Given the description of an element on the screen output the (x, y) to click on. 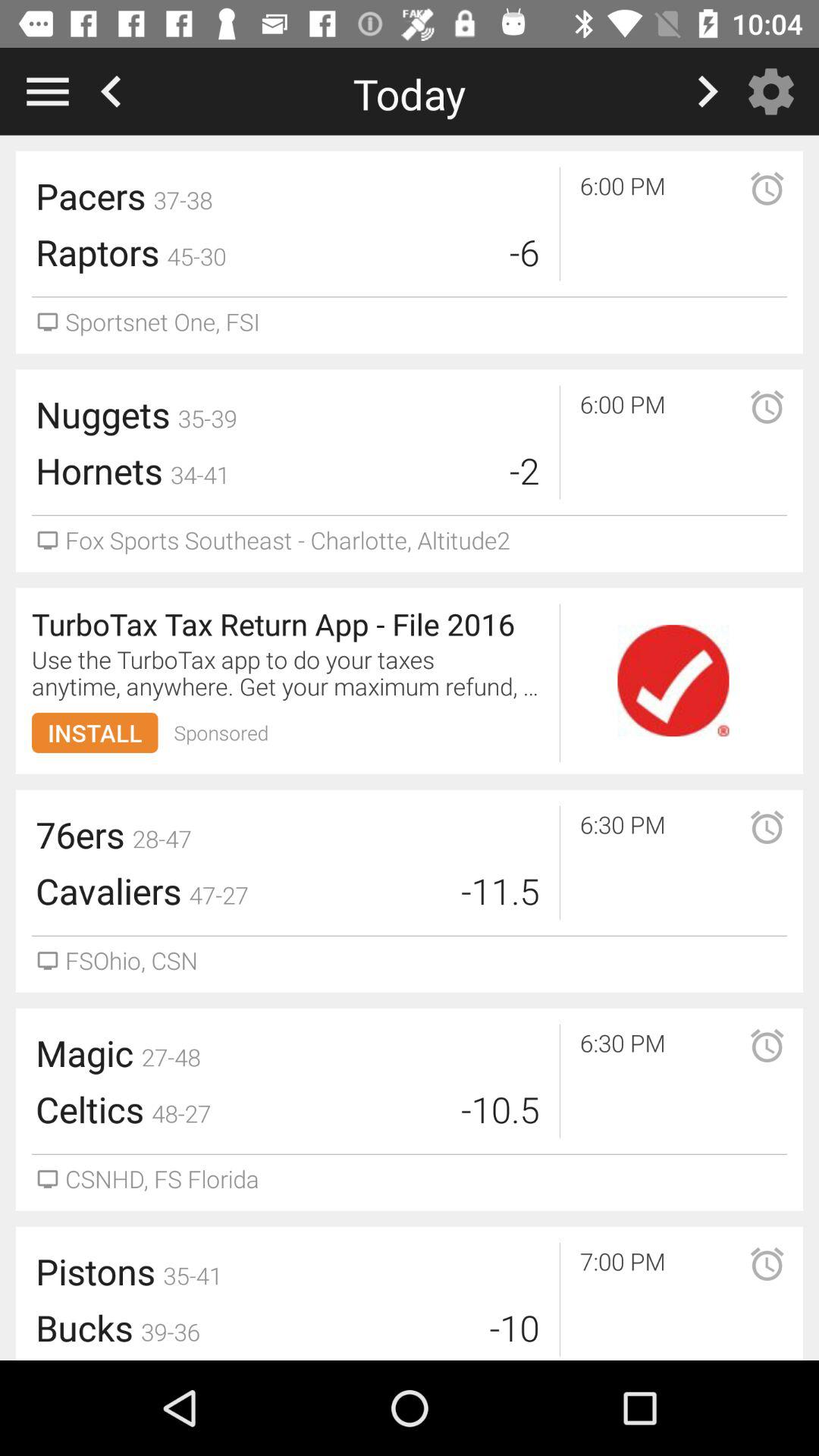
choose the sponsored icon (221, 732)
